Given the description of an element on the screen output the (x, y) to click on. 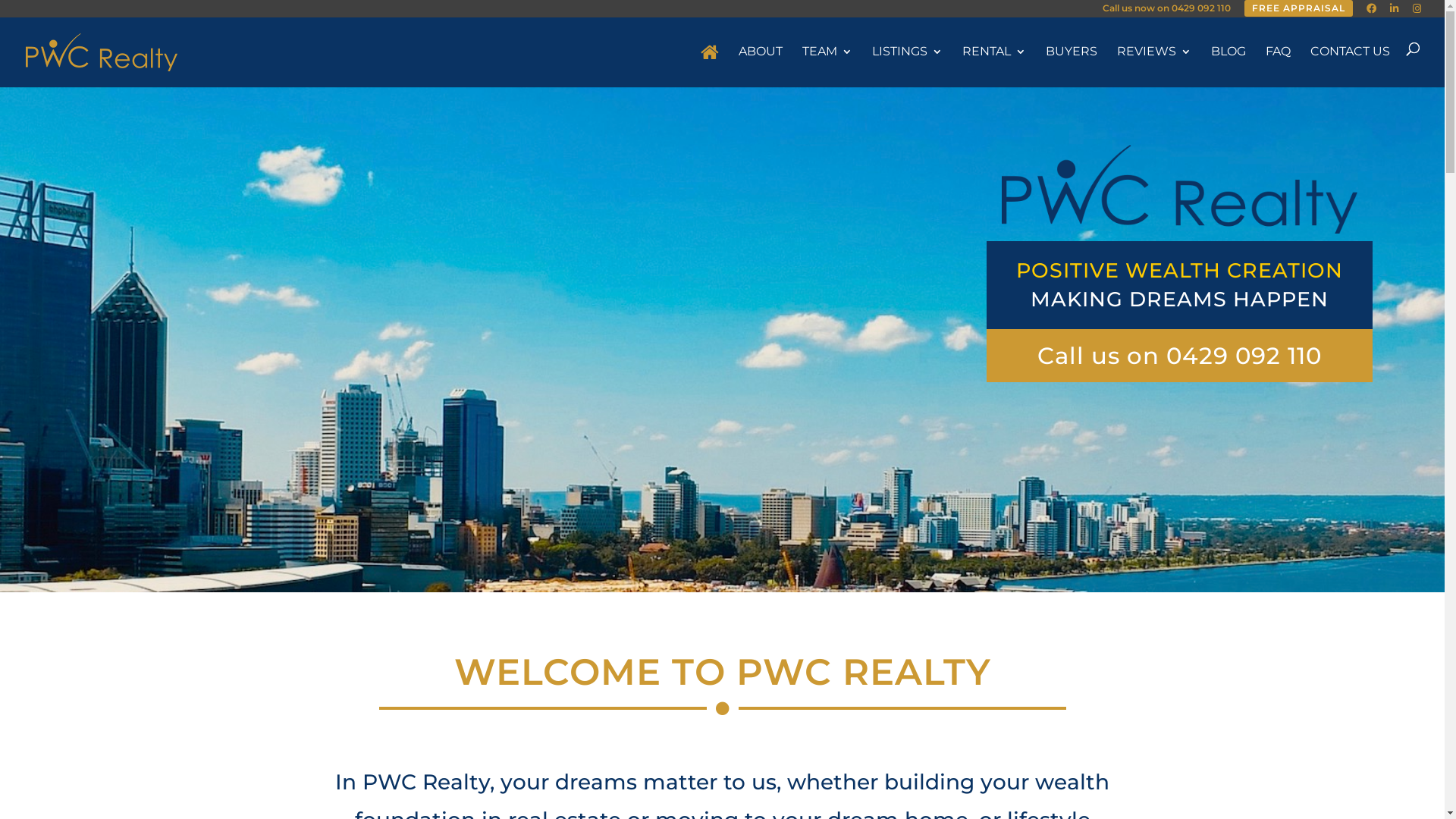
LISTINGS Element type: text (907, 63)
Call us now on 0429 092 110 Element type: text (1166, 9)
RENTAL Element type: text (994, 63)
FAQ Element type: text (1277, 63)
ABOUT Element type: text (760, 63)
BLOG Element type: text (1228, 63)
CONTACT US Element type: text (1350, 63)
Pwc Realty Facebook Element type: hover (1371, 10)
Call us on 0429 092 110 Element type: text (1179, 355)
REVIEWS Element type: text (1154, 63)
FREE APPRAISAL Element type: text (1298, 8)
PWC Realty Instagram Element type: hover (1416, 10)
PWC Realty LinkedIn Element type: hover (1394, 10)
PWC Realty - Logo blue Element type: hover (1179, 188)
TEAM Element type: text (827, 63)
BUYERS Element type: text (1071, 63)
